Given the description of an element on the screen output the (x, y) to click on. 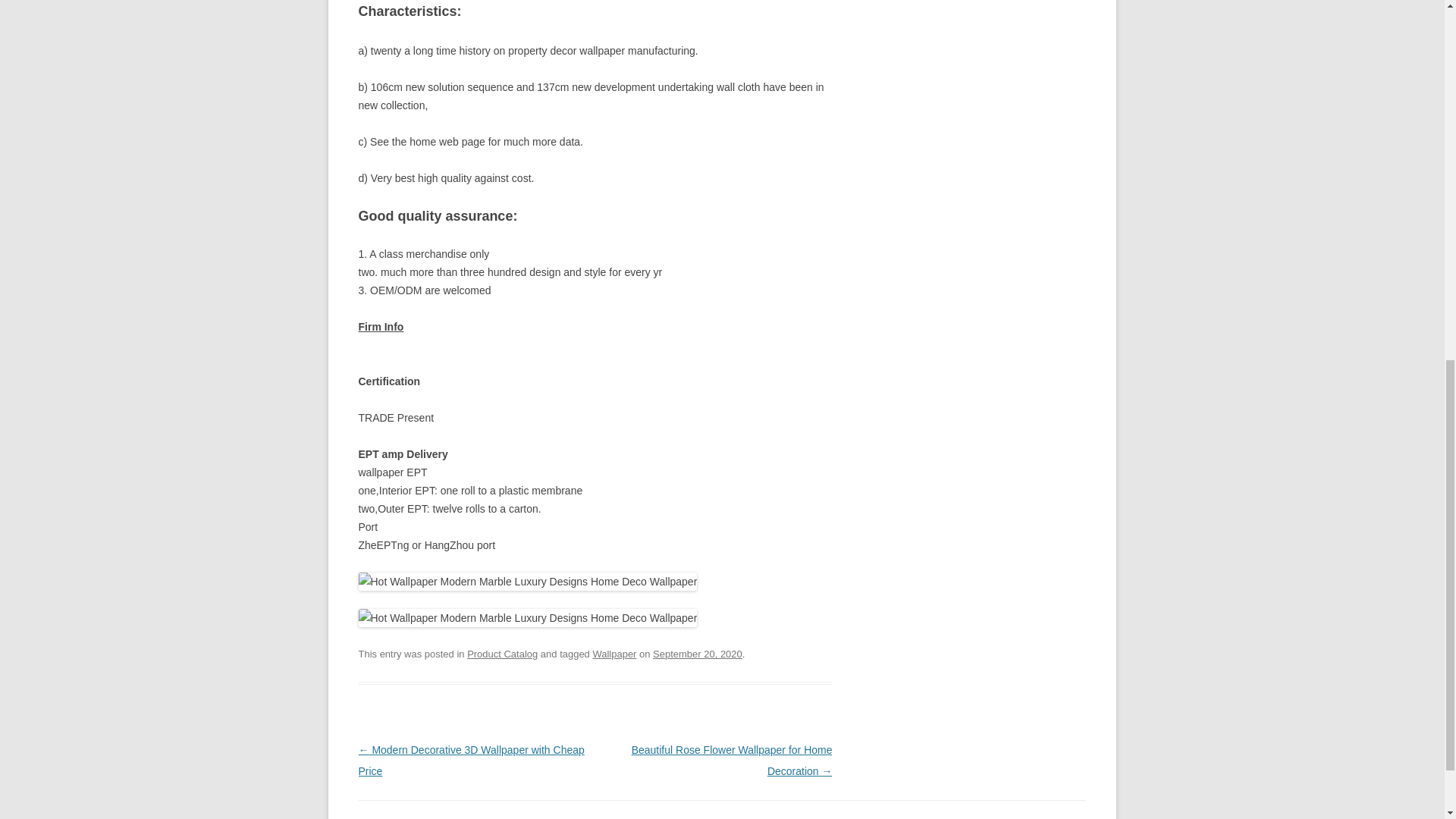
Product Catalog (502, 654)
September 20, 2020 (697, 654)
11:45 pm (697, 654)
Wallpaper (614, 654)
